Given the description of an element on the screen output the (x, y) to click on. 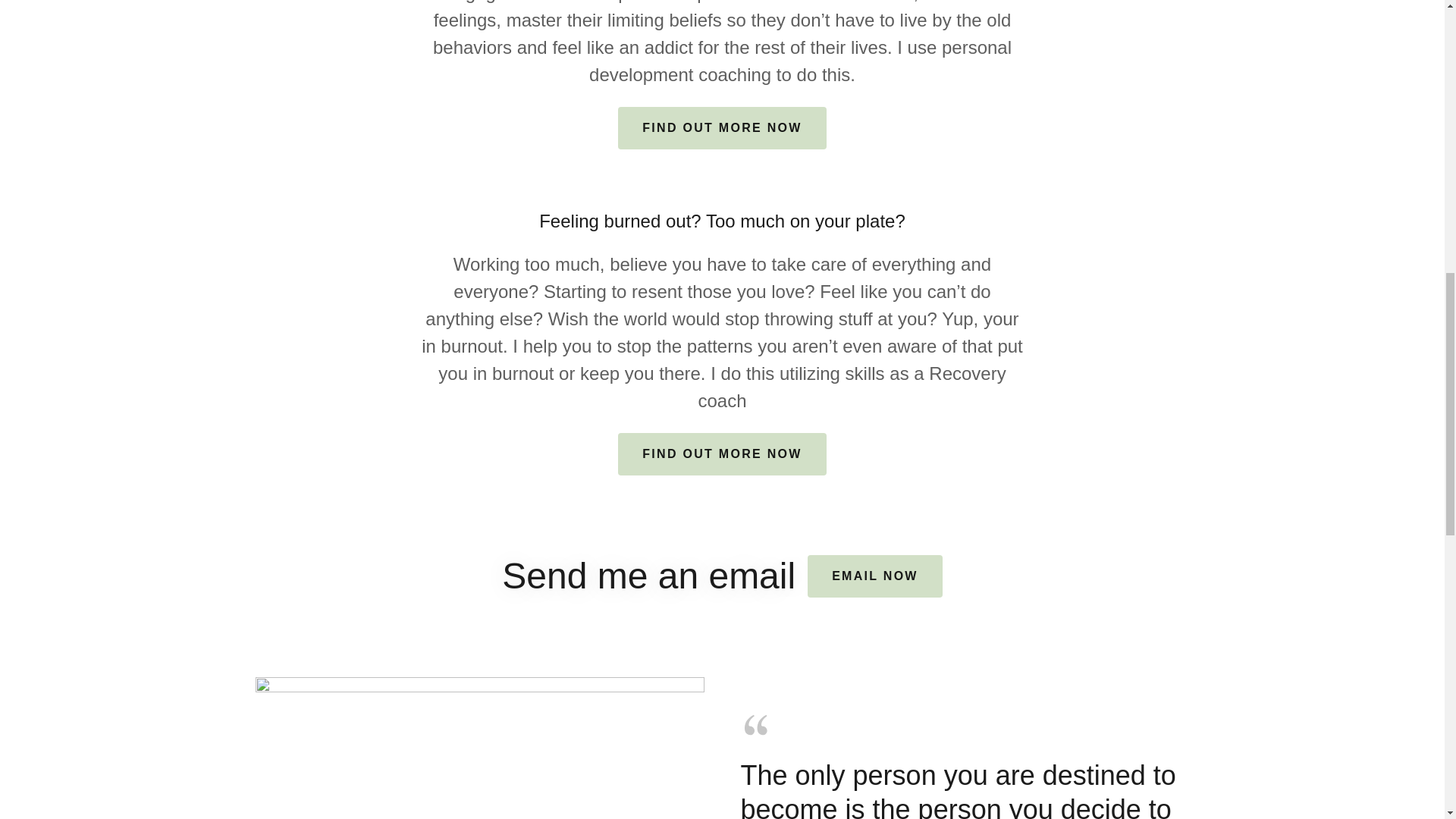
FIND OUT MORE NOW (721, 128)
EMAIL NOW (875, 576)
FIND OUT MORE NOW (721, 454)
